Given the description of an element on the screen output the (x, y) to click on. 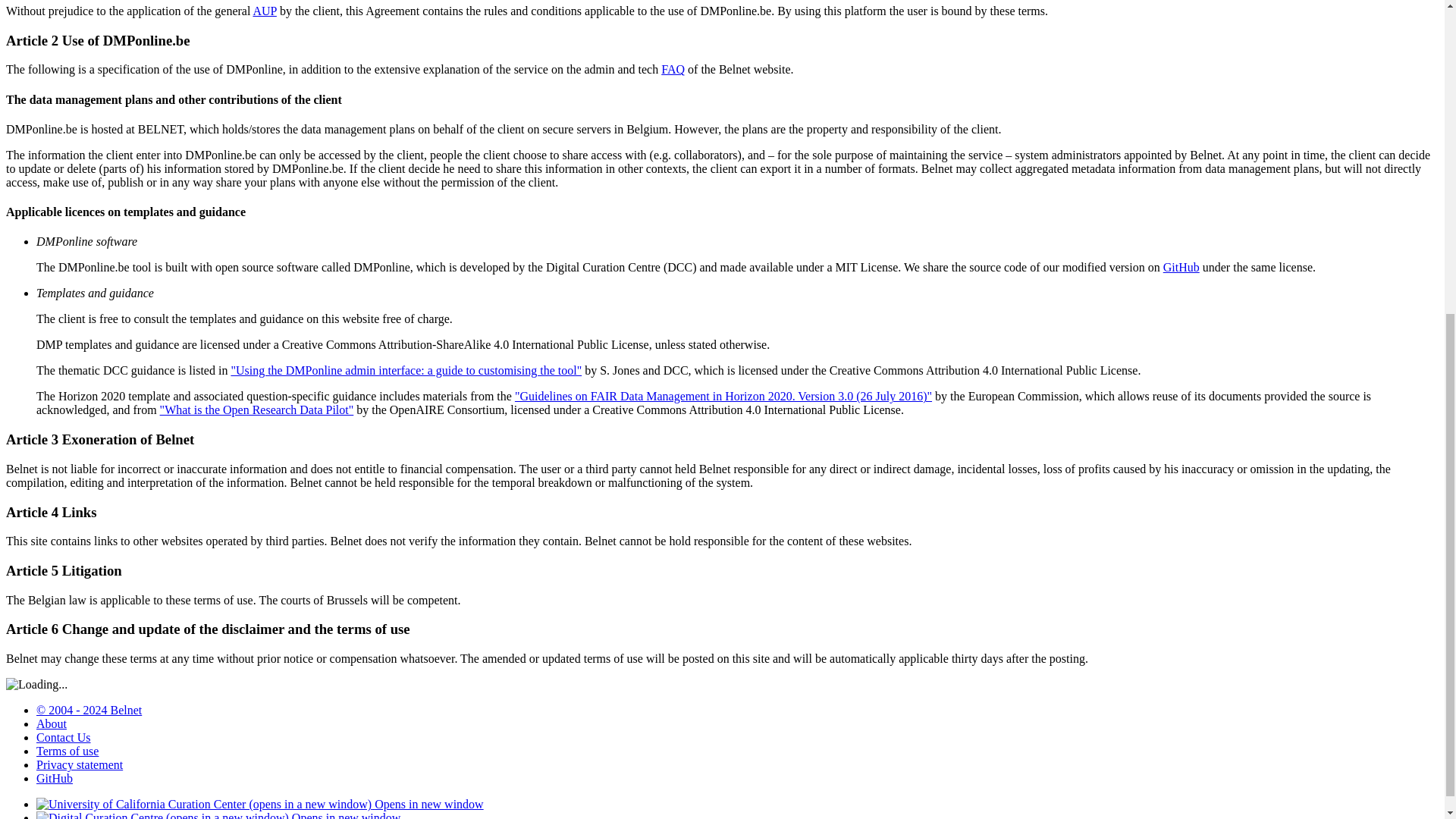
GitHub (54, 778)
University of California Curation Center (259, 803)
GitHub (1181, 267)
Terms of use (67, 750)
About (51, 723)
"What is the Open Research Data Pilot" (256, 409)
Privacy statement (79, 764)
FAQ (672, 69)
AUP (263, 10)
Contact Us (63, 737)
Opens in new window (259, 803)
